Given the description of an element on the screen output the (x, y) to click on. 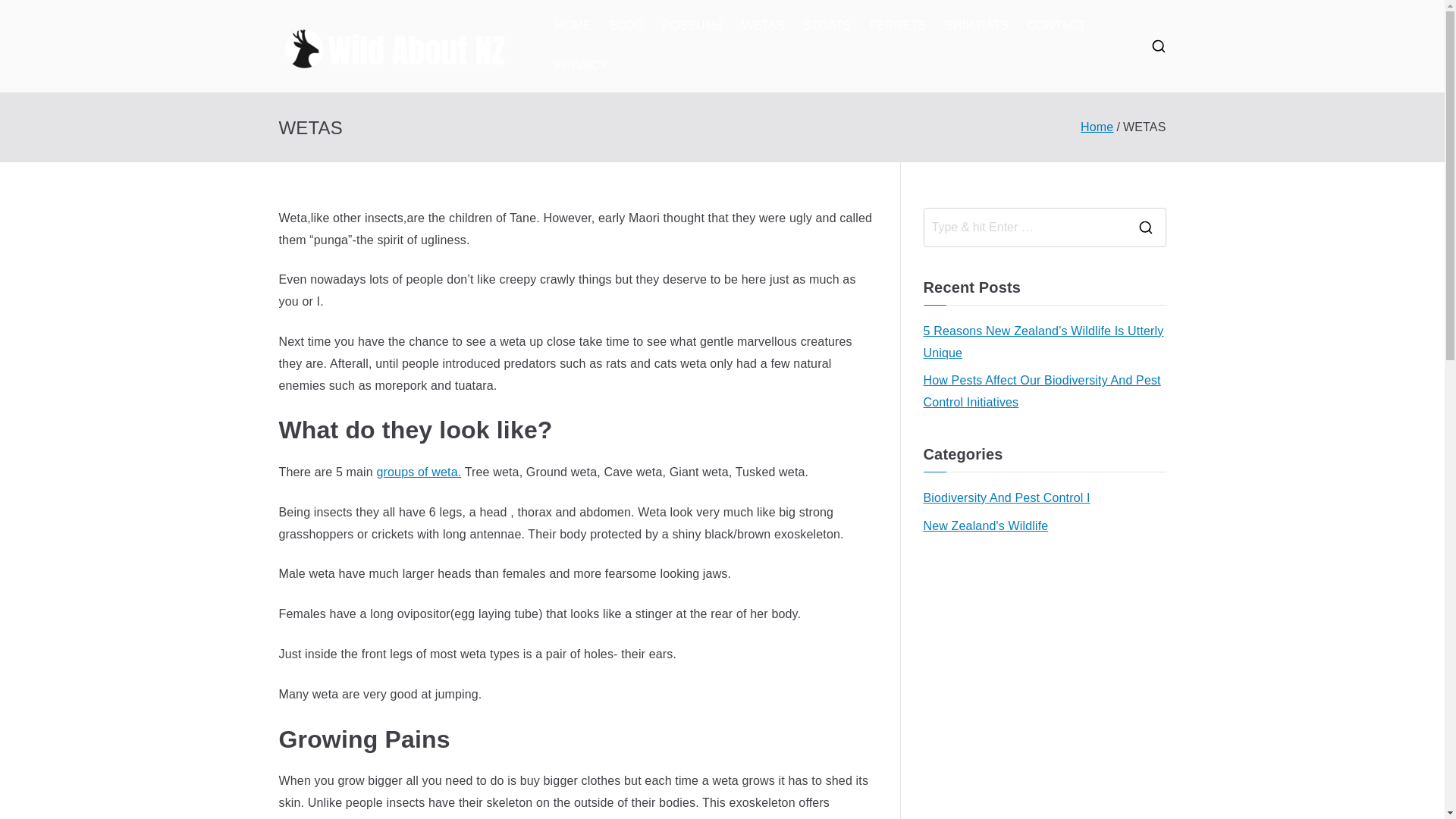
Search (26, 18)
Search for: (1024, 227)
WETAS (762, 25)
BLOG (626, 25)
New Zealand's Wildlife (985, 526)
POSSUMS (692, 25)
Home (1096, 126)
groups of weta. (419, 472)
Search (26, 12)
CONTACT (1056, 25)
